Given the description of an element on the screen output the (x, y) to click on. 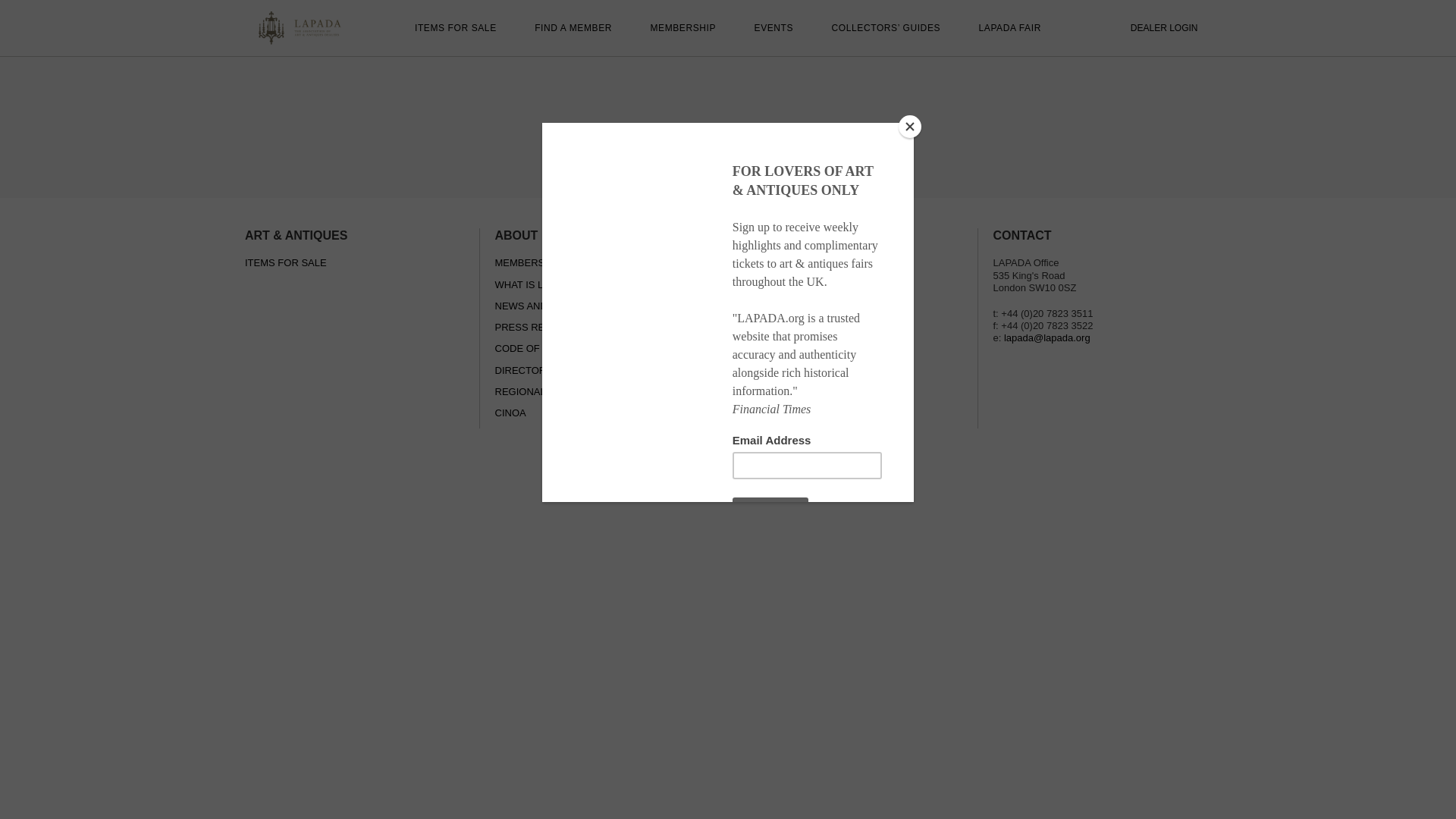
Follow us on Twitter (853, 264)
Like us on Facebook (853, 287)
ITEMS FOR SALE (455, 27)
FIND A MEMBER (572, 27)
MEMBERSHIP (682, 27)
Learn more about LAPADA (853, 334)
EVENTS (773, 27)
LAPADA FAIR (1009, 27)
DEALER LOGIN (1164, 27)
